Given the description of an element on the screen output the (x, y) to click on. 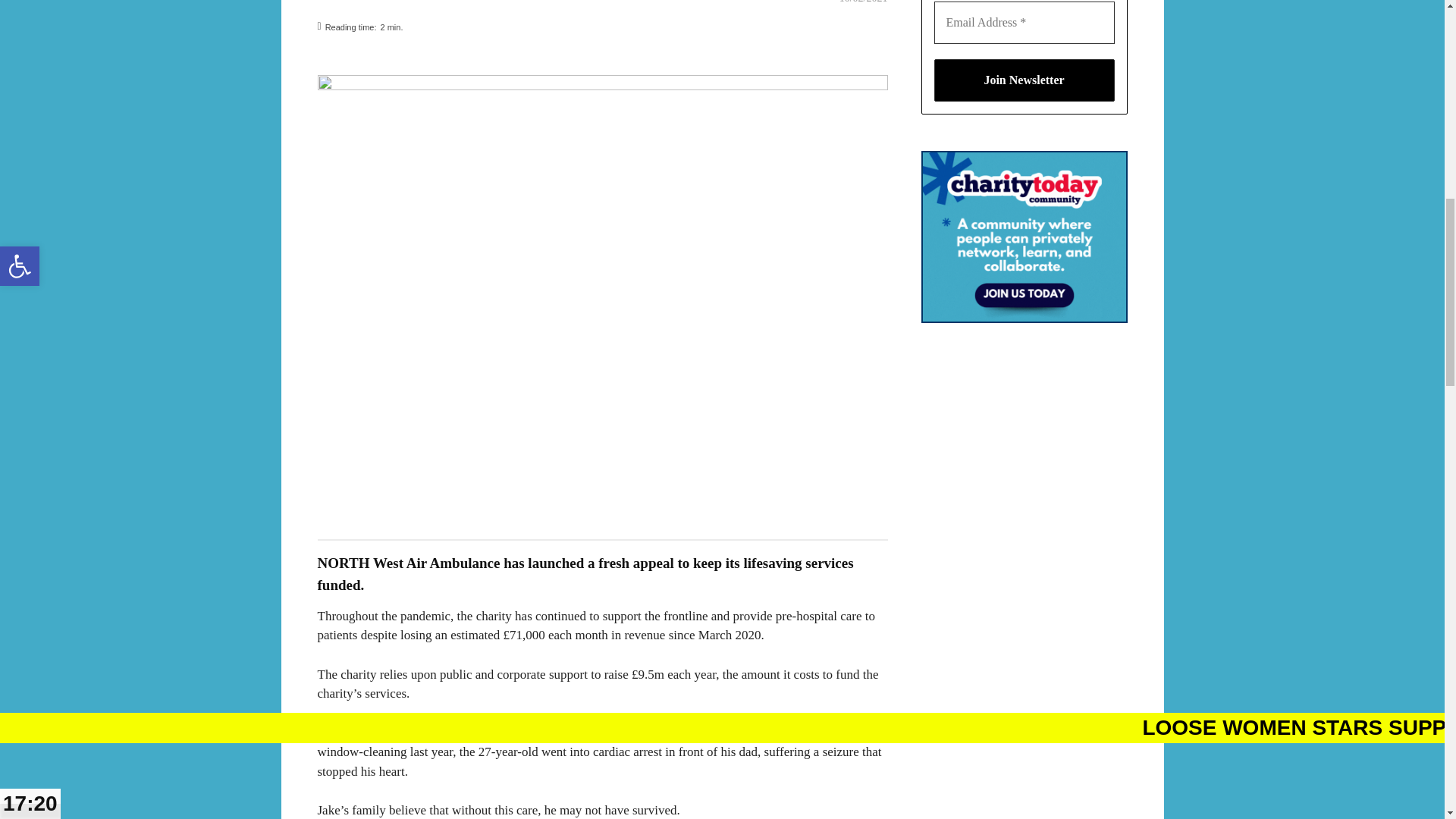
Join Newsletter (1024, 79)
